Given the description of an element on the screen output the (x, y) to click on. 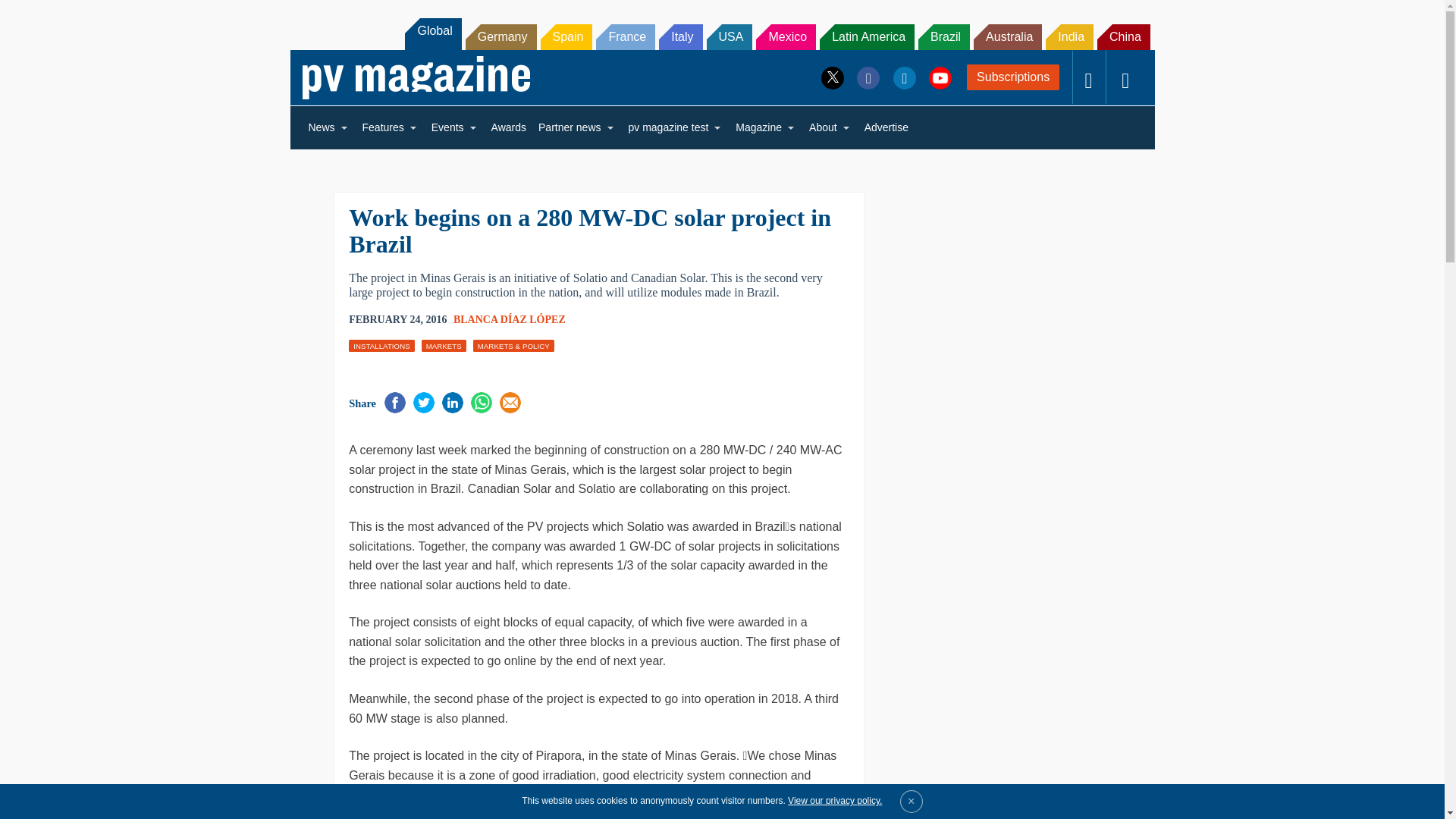
pv magazine - Photovoltaics Markets and Technology (415, 77)
Germany (501, 36)
Mexico (785, 36)
USA (729, 36)
pv magazine - Photovoltaics Markets and Technology (415, 77)
China (1123, 36)
Latin America (866, 36)
Subscriptions (1012, 77)
India (1069, 36)
Search (32, 15)
Wednesday, February 24, 2016, 12:00 am (397, 320)
Australia (1008, 36)
Italy (680, 36)
Spain (566, 36)
France (625, 36)
